Given the description of an element on the screen output the (x, y) to click on. 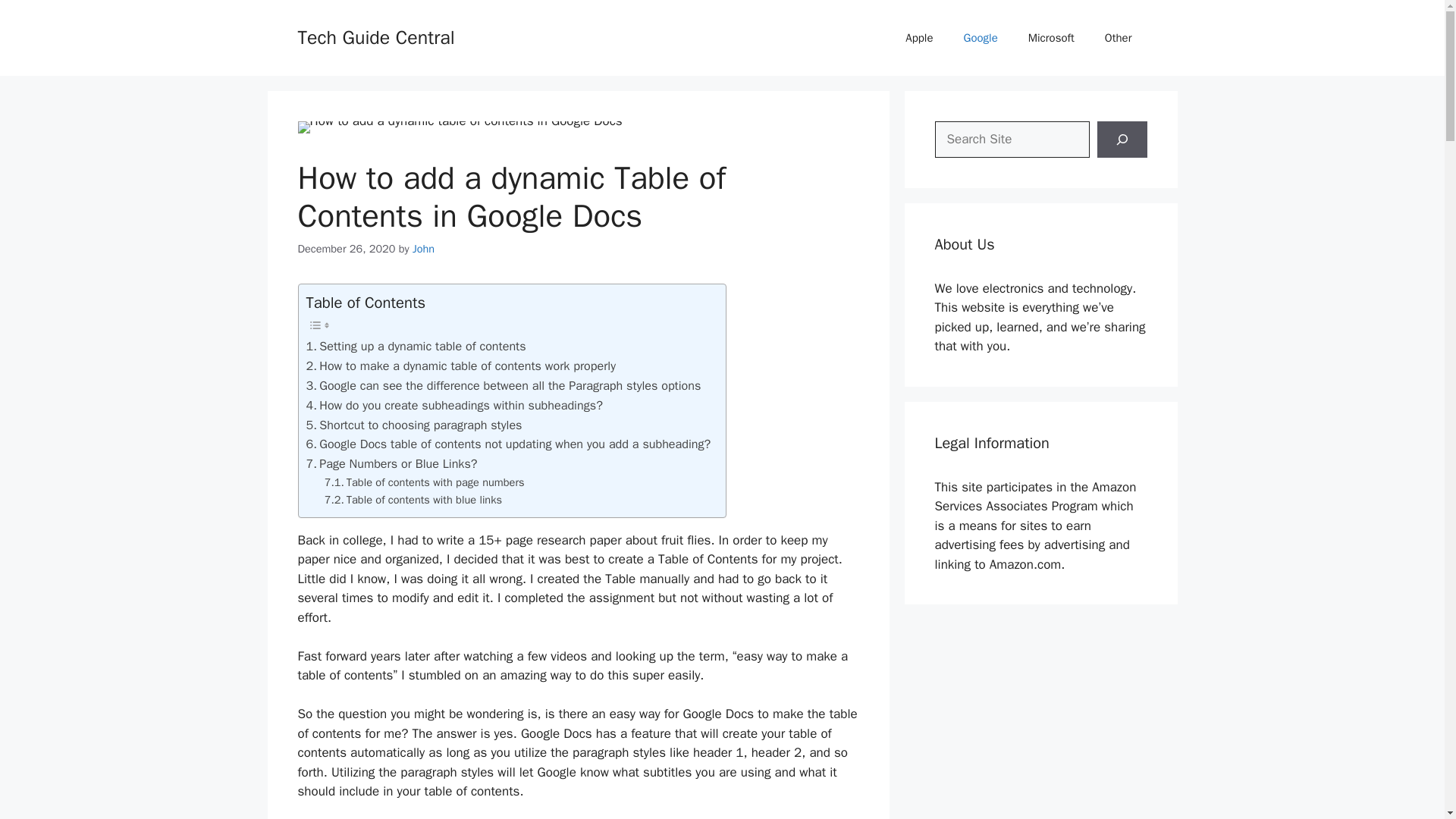
View all posts by John (422, 248)
Table of contents with page numbers (424, 482)
Microsoft (1051, 37)
Apple (918, 37)
How to make a dynamic table of contents work properly (460, 365)
Table of contents with blue links (413, 499)
Table of contents with page numbers (424, 482)
Setting up a dynamic table of contents (415, 346)
Page Numbers or Blue Links? (391, 464)
How do you create subheadings within subheadings? (453, 405)
Other (1118, 37)
Page Numbers or Blue Links? (391, 464)
John (422, 248)
